Given the description of an element on the screen output the (x, y) to click on. 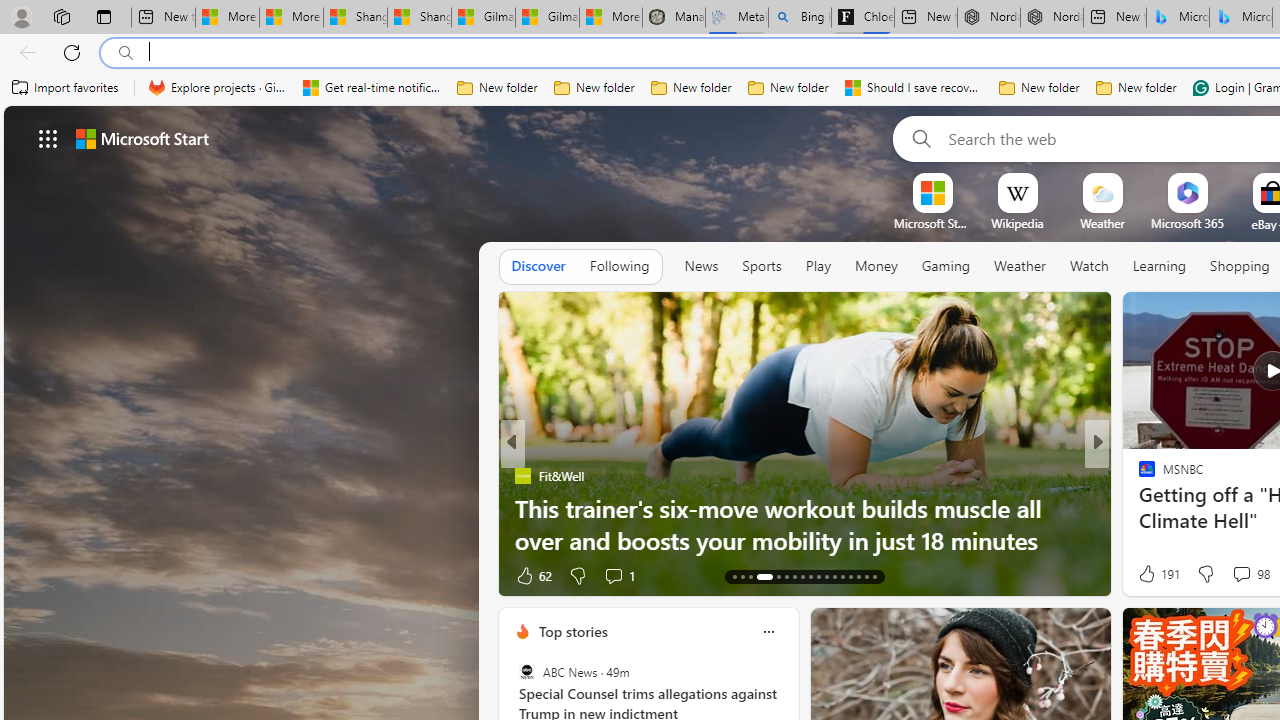
Reader's Digest (1138, 475)
59 Like (1149, 574)
Should I save recovered Word documents? - Microsoft Support (913, 88)
Class: control (47, 138)
AutomationID: tab-15 (750, 576)
The Why Files (1138, 475)
